Given the description of an element on the screen output the (x, y) to click on. 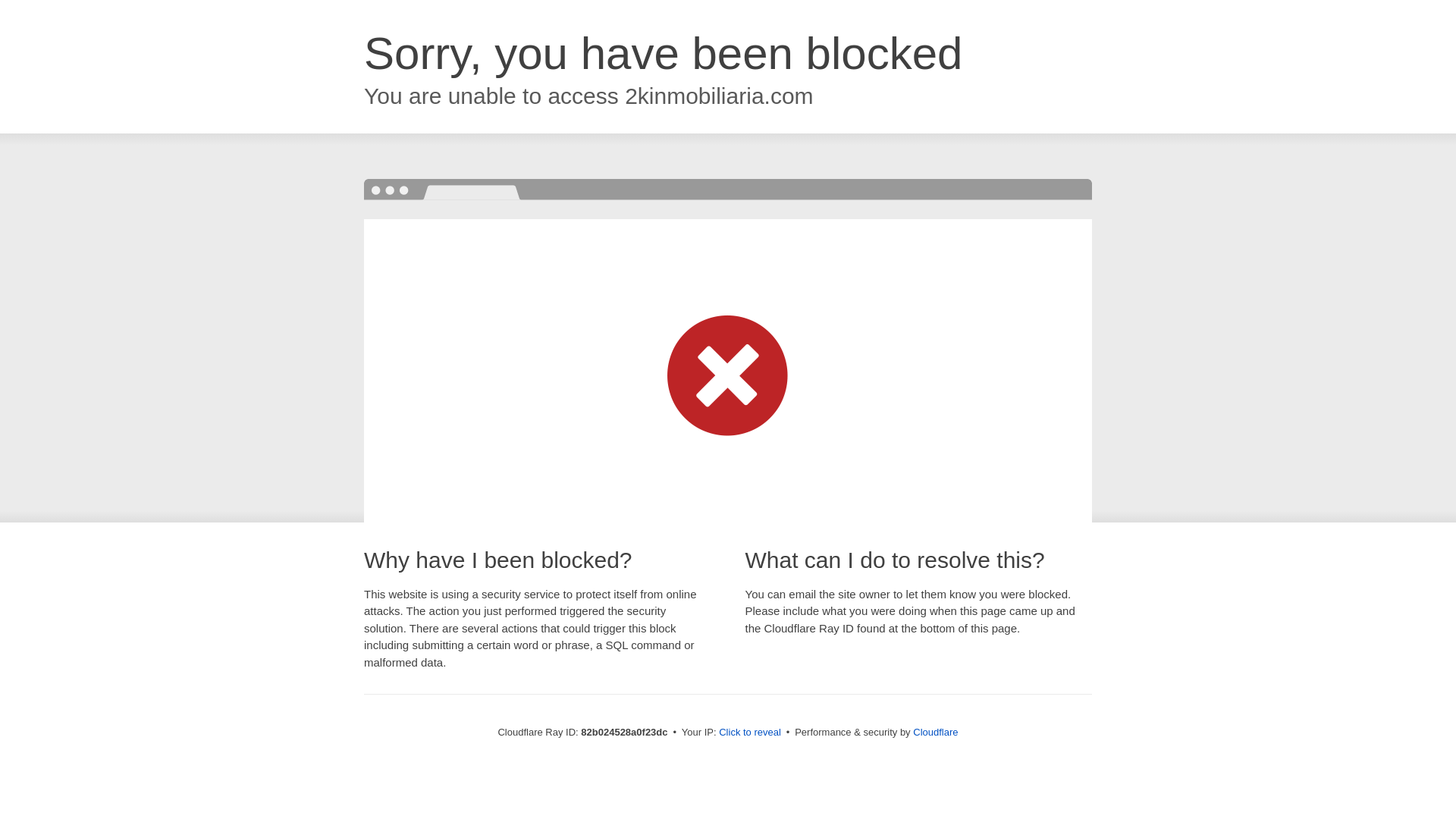
Click to reveal Element type: text (749, 732)
Cloudflare Element type: text (935, 731)
